Given the description of an element on the screen output the (x, y) to click on. 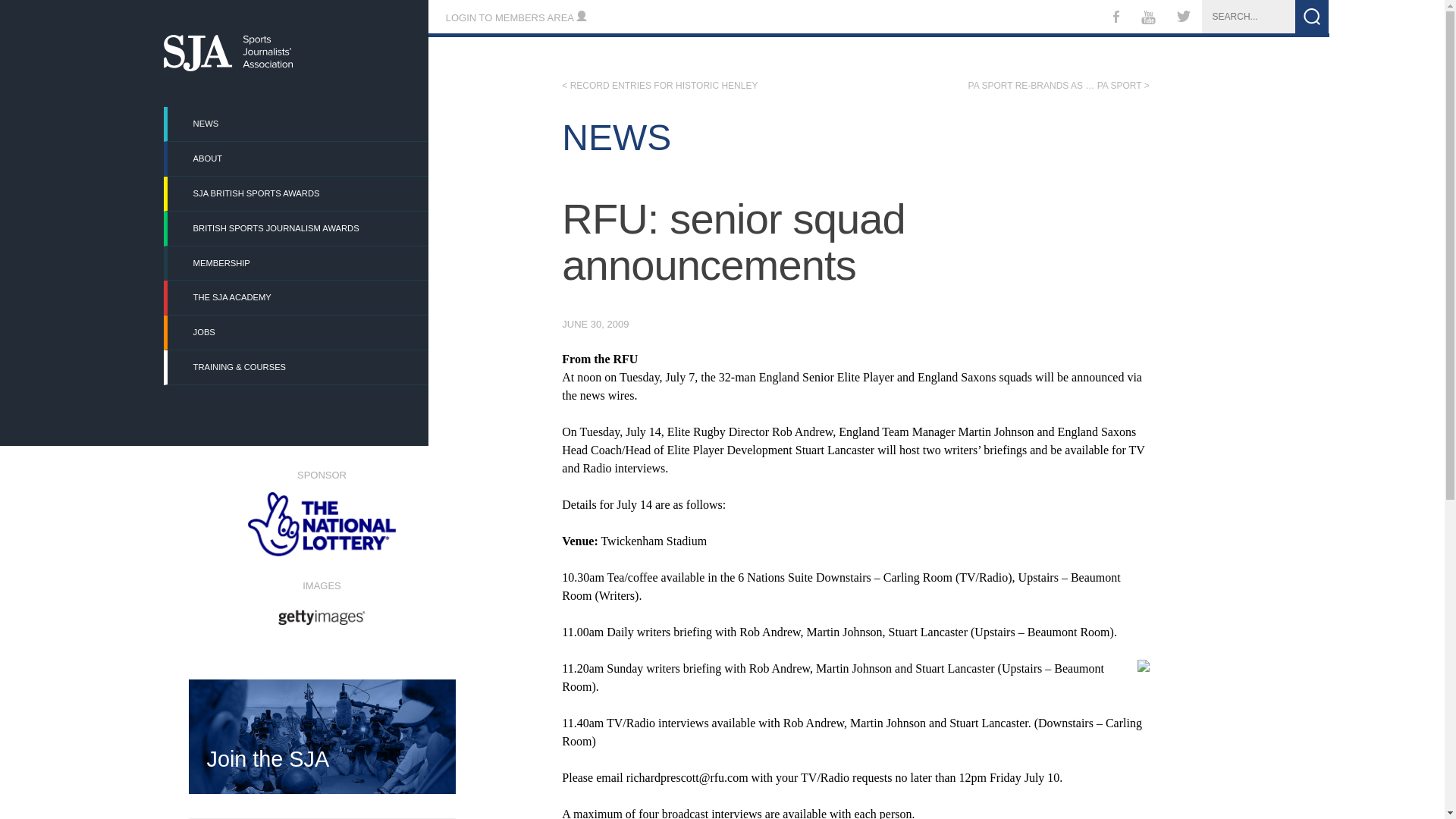
NEWS (297, 123)
LOGIN TO MEMBERS AREA (514, 18)
Login to Members Area (514, 18)
JUNE 30, 2009 (595, 324)
YouTube (1147, 19)
MEMBERSHIP (297, 263)
IMAGES (320, 600)
SPONSOR (320, 513)
BRITISH SPORTS JOURNALISM AWARDS (297, 228)
THE SJA ACADEMY (297, 297)
